Given the description of an element on the screen output the (x, y) to click on. 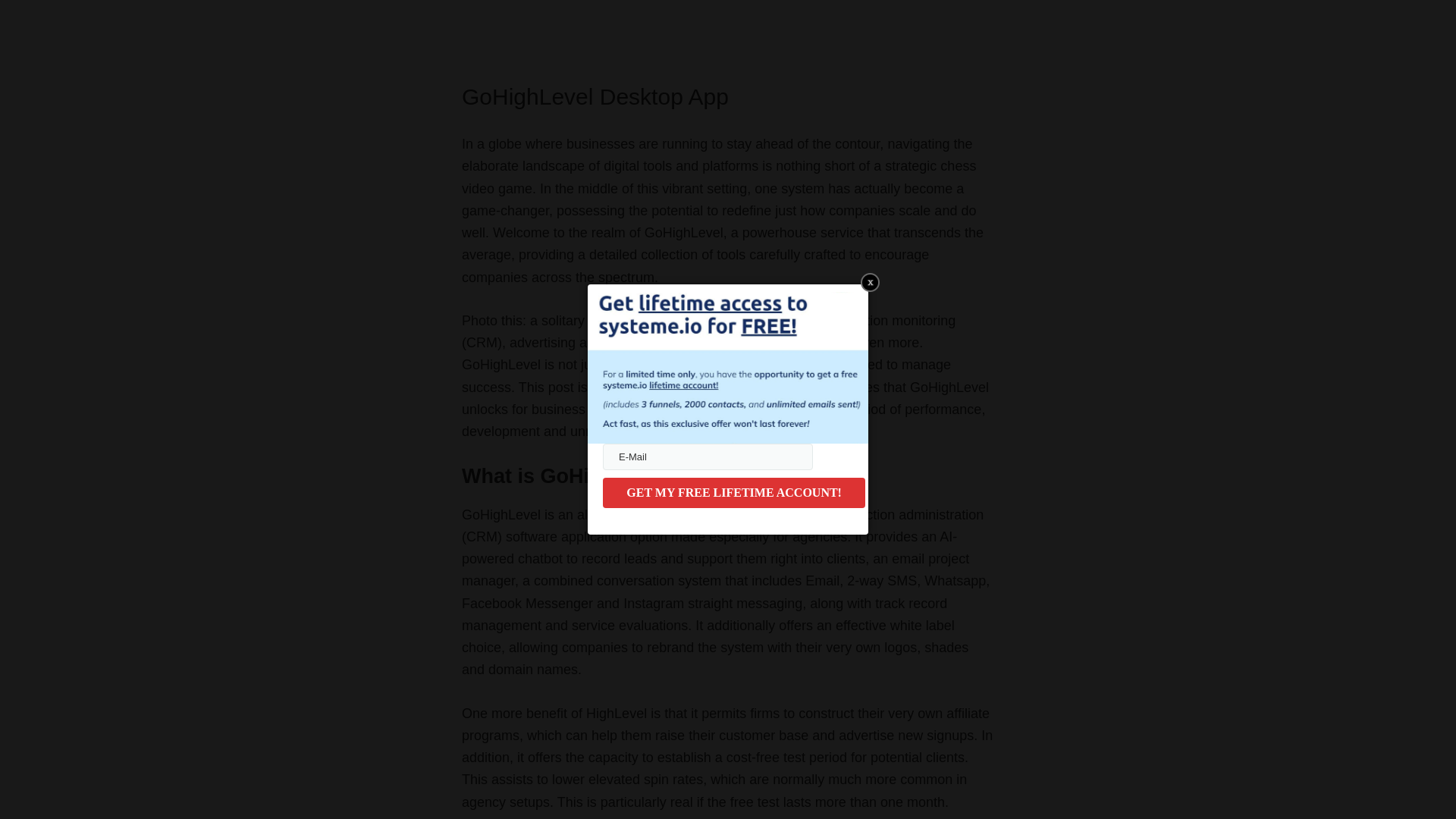
GET MY FREE LIFETIME ACCOUNT! (733, 492)
GET MY FREE LIFETIME ACCOUNT! (733, 492)
